Given the description of an element on the screen output the (x, y) to click on. 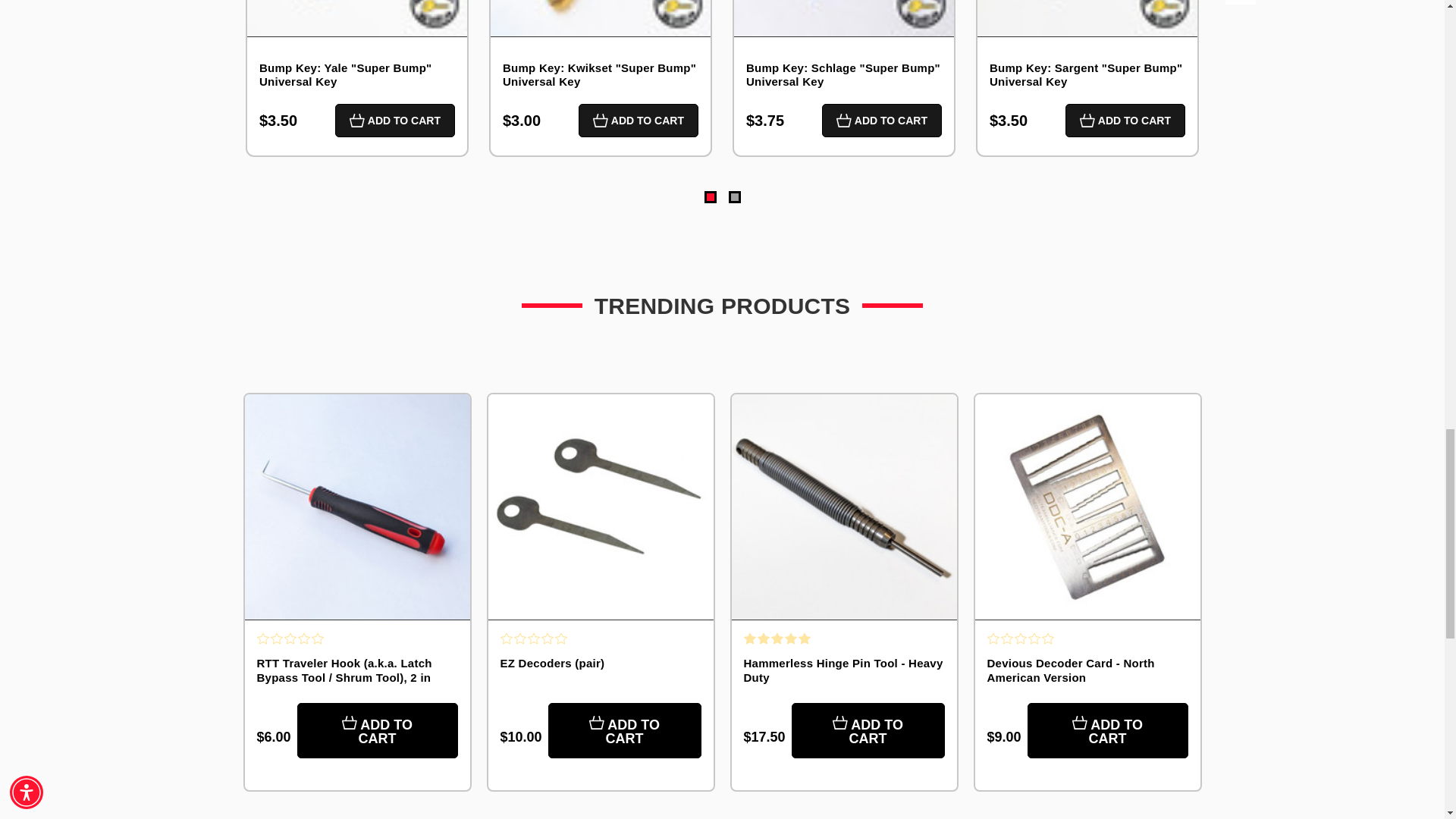
Yale "Super" Bump Key with Bump Key Bands (357, 18)
Kwikset Super Bump Key (600, 18)
